Given the description of an element on the screen output the (x, y) to click on. 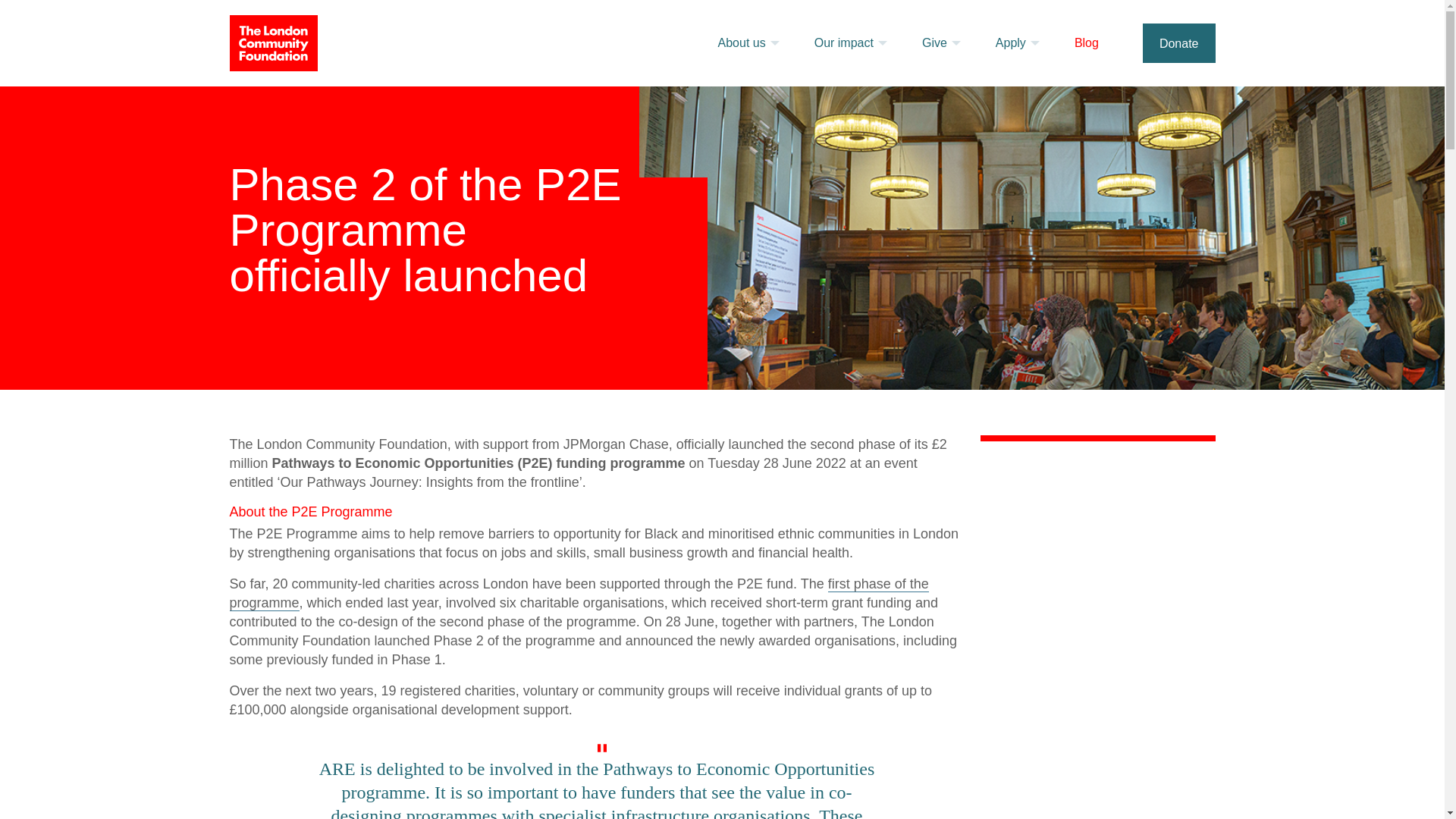
About us (754, 43)
Our impact (856, 43)
